Given the description of an element on the screen output the (x, y) to click on. 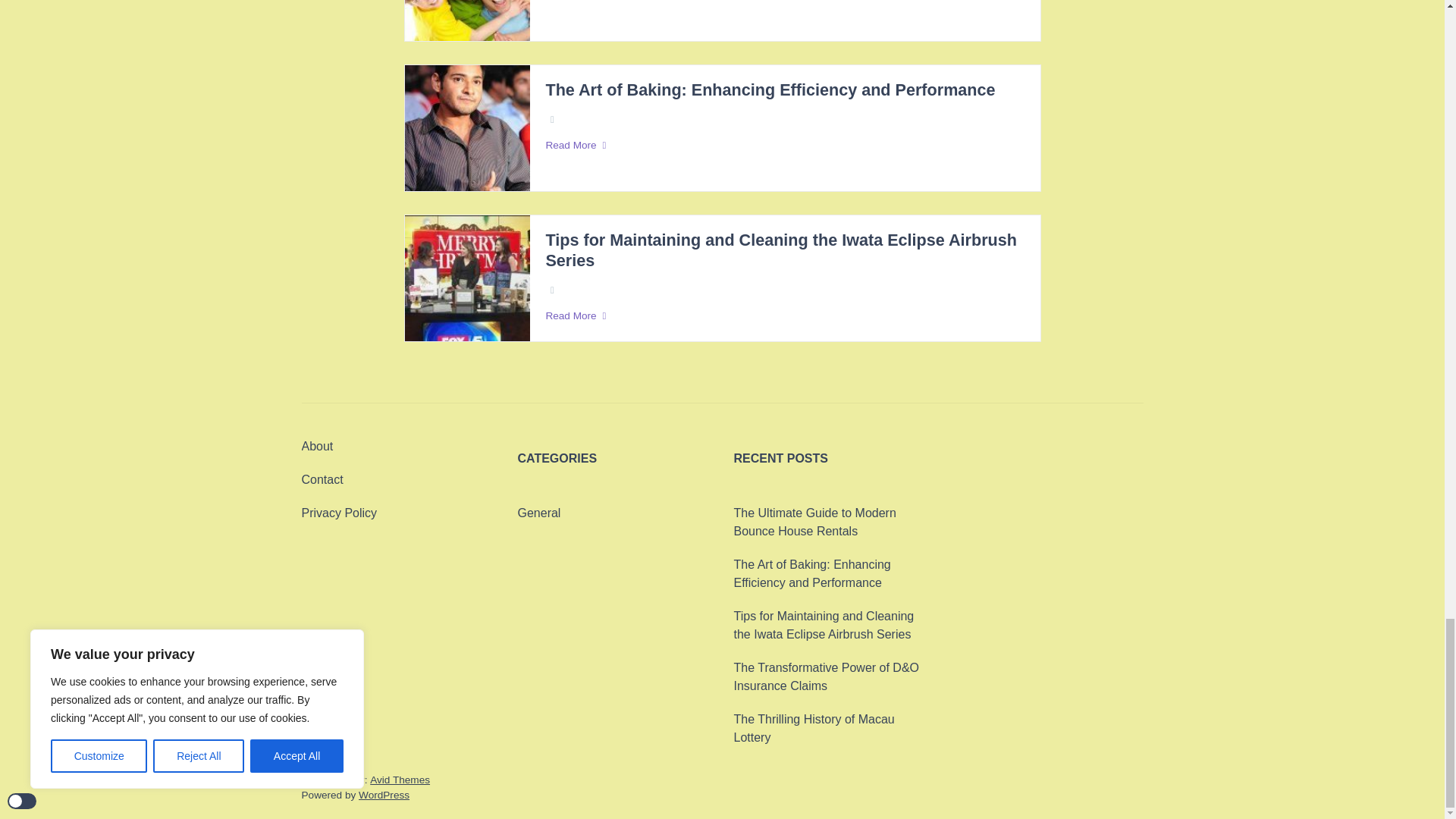
The Art of Baking: Enhancing Efficiency and Performance (769, 90)
Read More (784, 145)
